Given the description of an element on the screen output the (x, y) to click on. 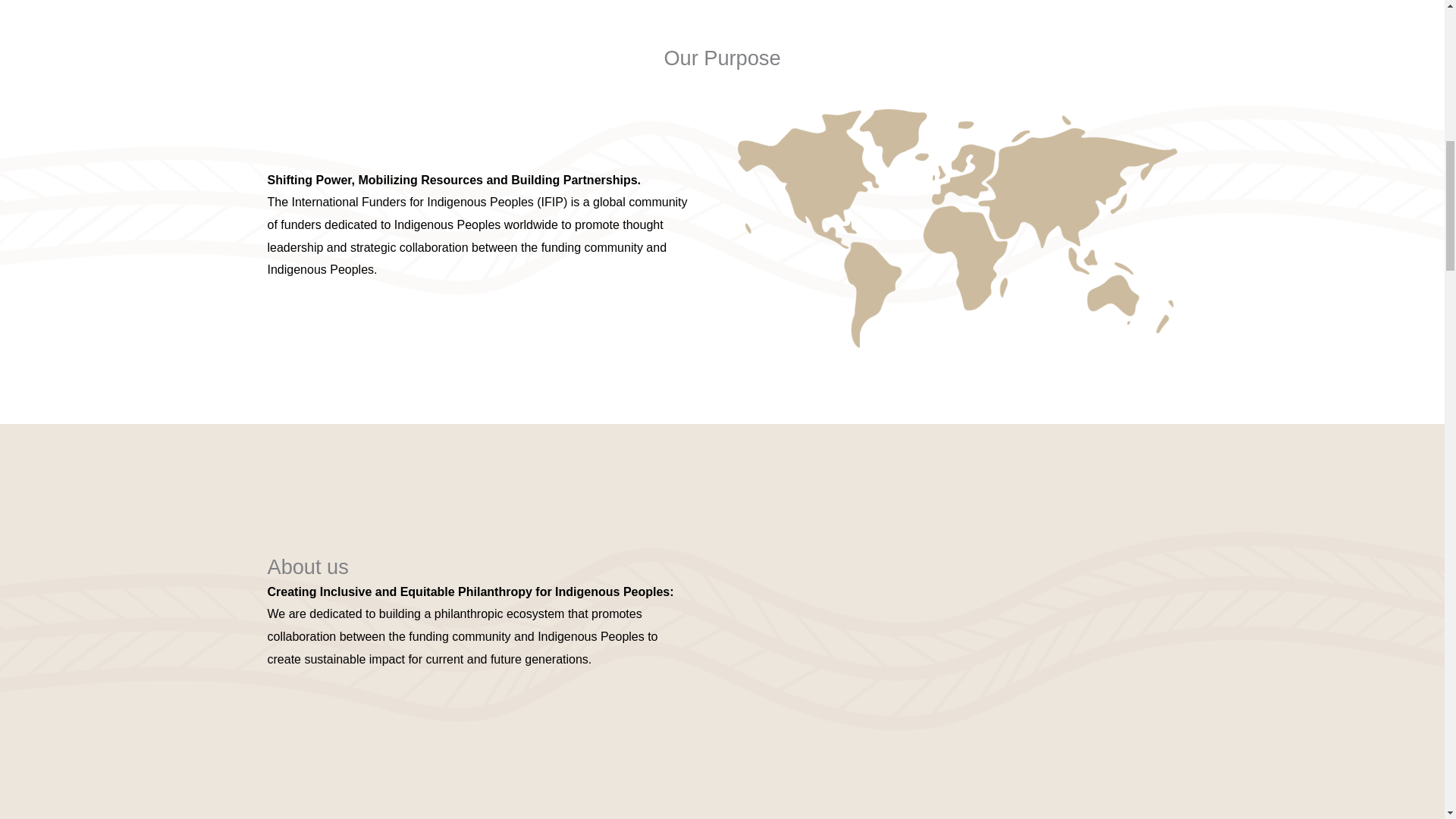
world-map-ifip (956, 228)
about-us-ifip (956, 615)
